Given the description of an element on the screen output the (x, y) to click on. 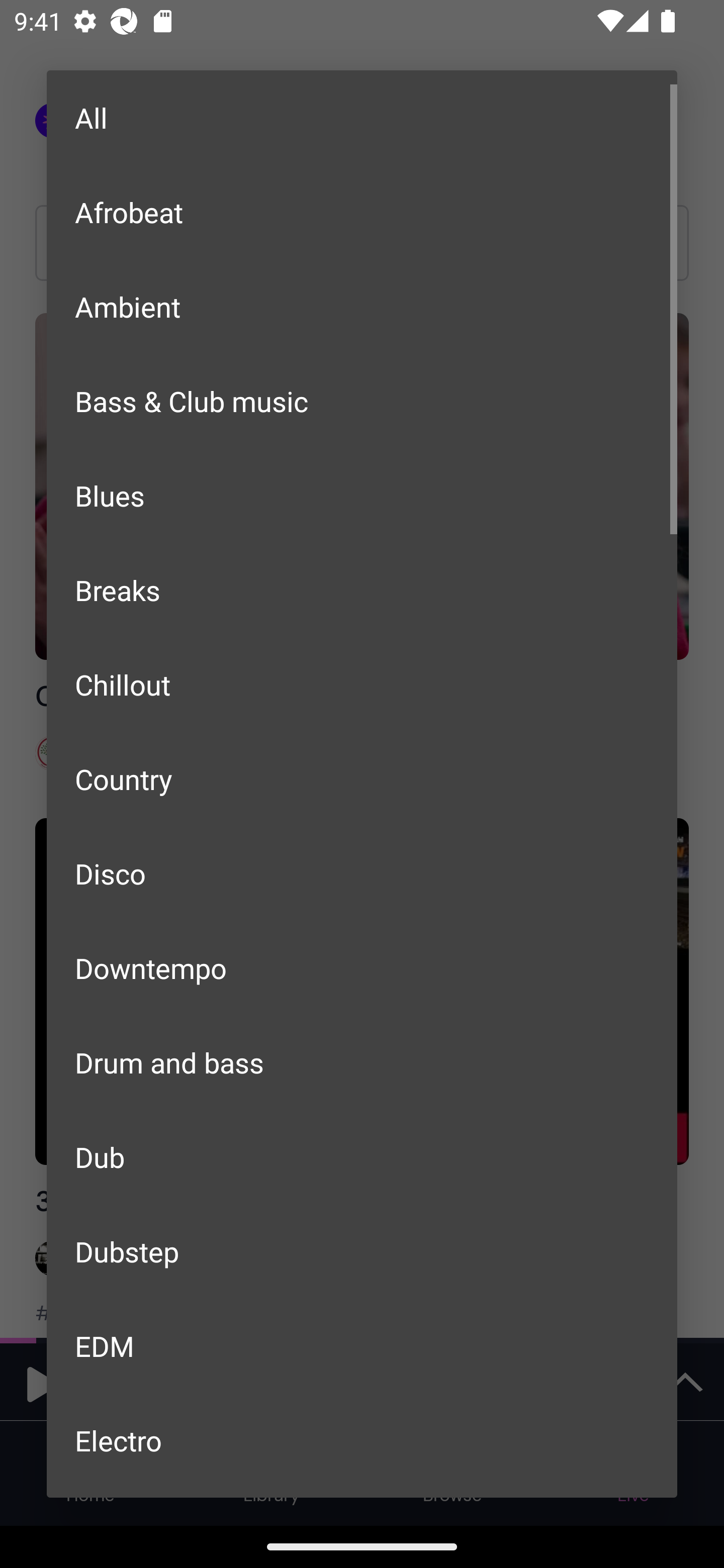
All (361, 117)
Afrobeat (361, 211)
Ambient (361, 306)
Bass & Club music (361, 401)
Blues (361, 495)
Breaks (361, 589)
Chillout (361, 684)
Country (361, 779)
Disco (361, 873)
Downtempo (361, 967)
Drum and bass (361, 1062)
Dub (361, 1157)
Dubstep (361, 1251)
EDM (361, 1345)
Electro (361, 1440)
